Given the description of an element on the screen output the (x, y) to click on. 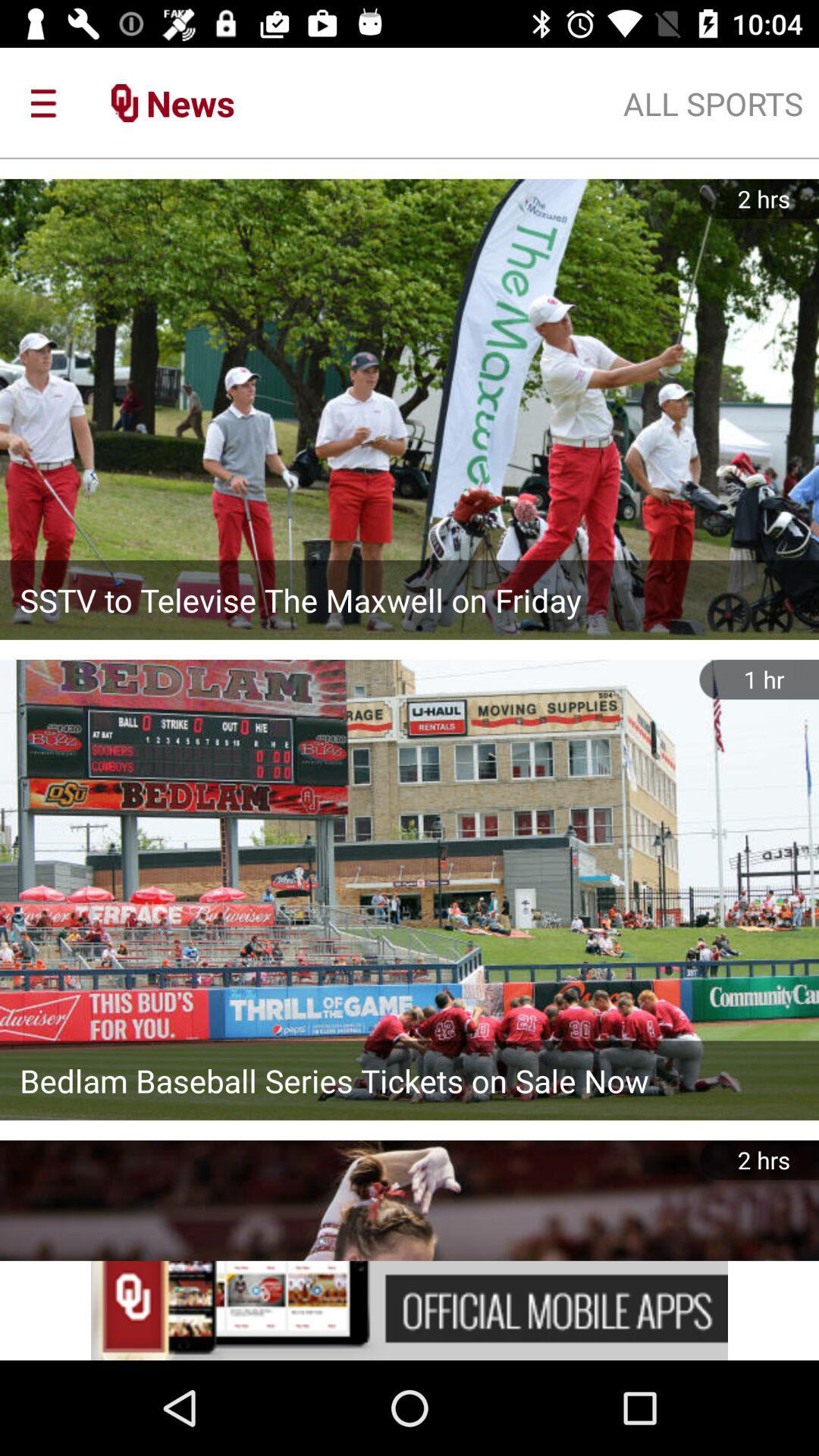
select advertisement (409, 1310)
